Given the description of an element on the screen output the (x, y) to click on. 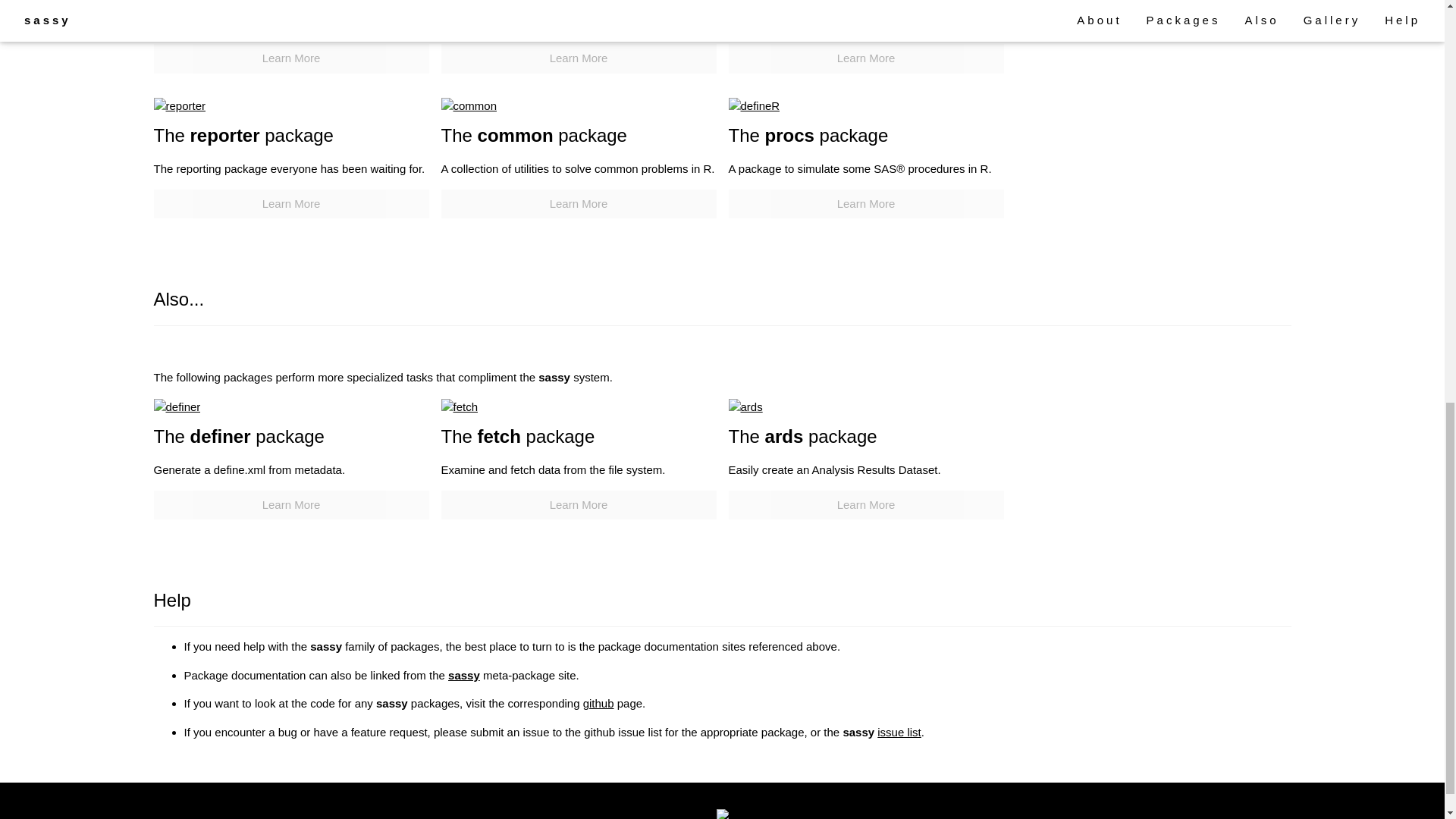
Learn More (290, 204)
Learn More (578, 505)
Learn More (578, 58)
github (598, 703)
Learn More (290, 505)
Learn More (865, 505)
Learn More (865, 58)
Learn More (290, 58)
issue list (899, 731)
sassy (464, 675)
